Given the description of an element on the screen output the (x, y) to click on. 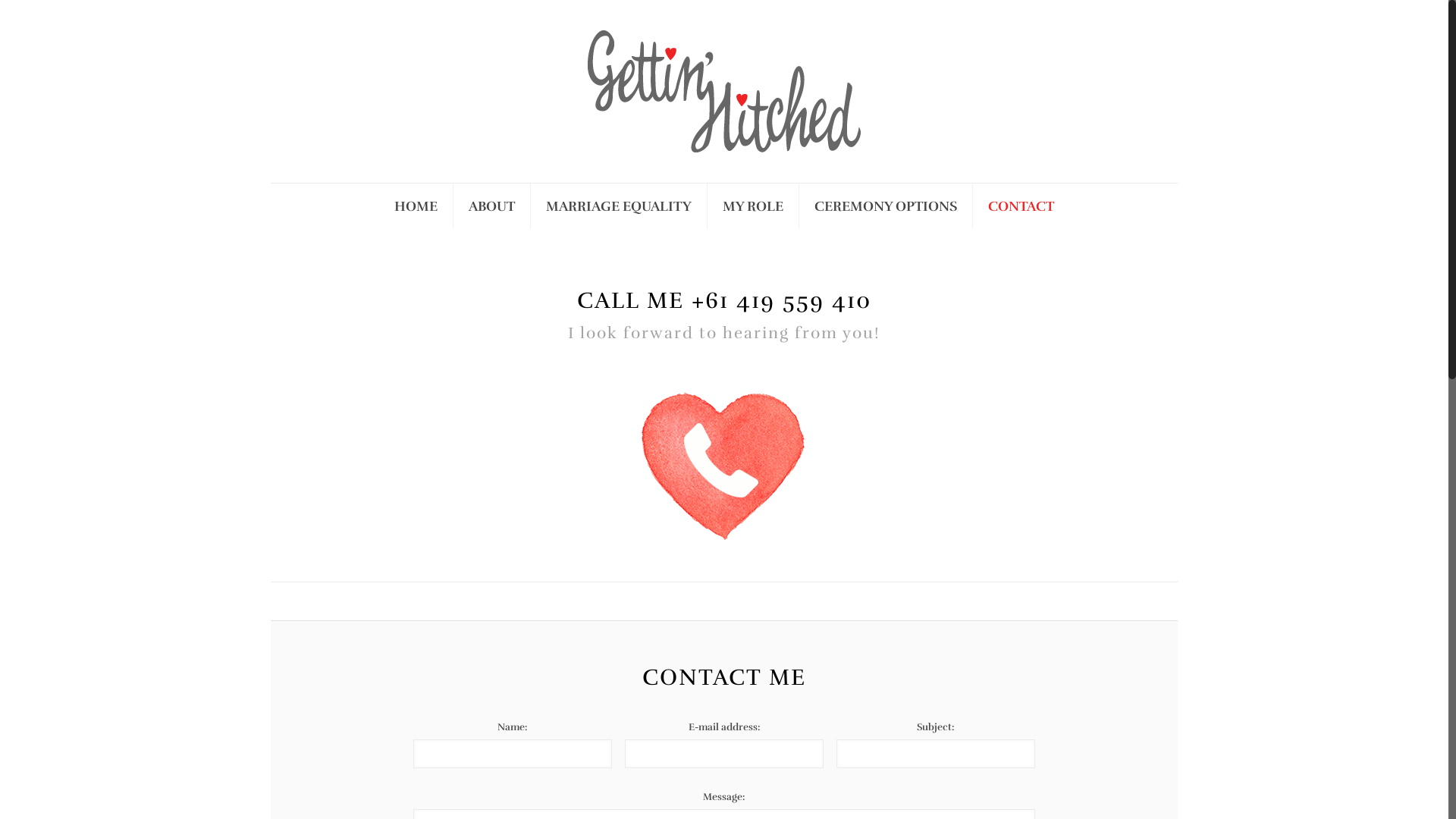
CEREMONY OPTIONS Element type: text (885, 206)
CONTACT Element type: text (1020, 206)
MARRIAGE EQUALITY Element type: text (618, 206)
Gettin' Hitched Element type: hover (723, 91)
HOME Element type: text (416, 206)
MY ROLE Element type: text (753, 206)
ABOUT Element type: text (491, 206)
